Given the description of an element on the screen output the (x, y) to click on. 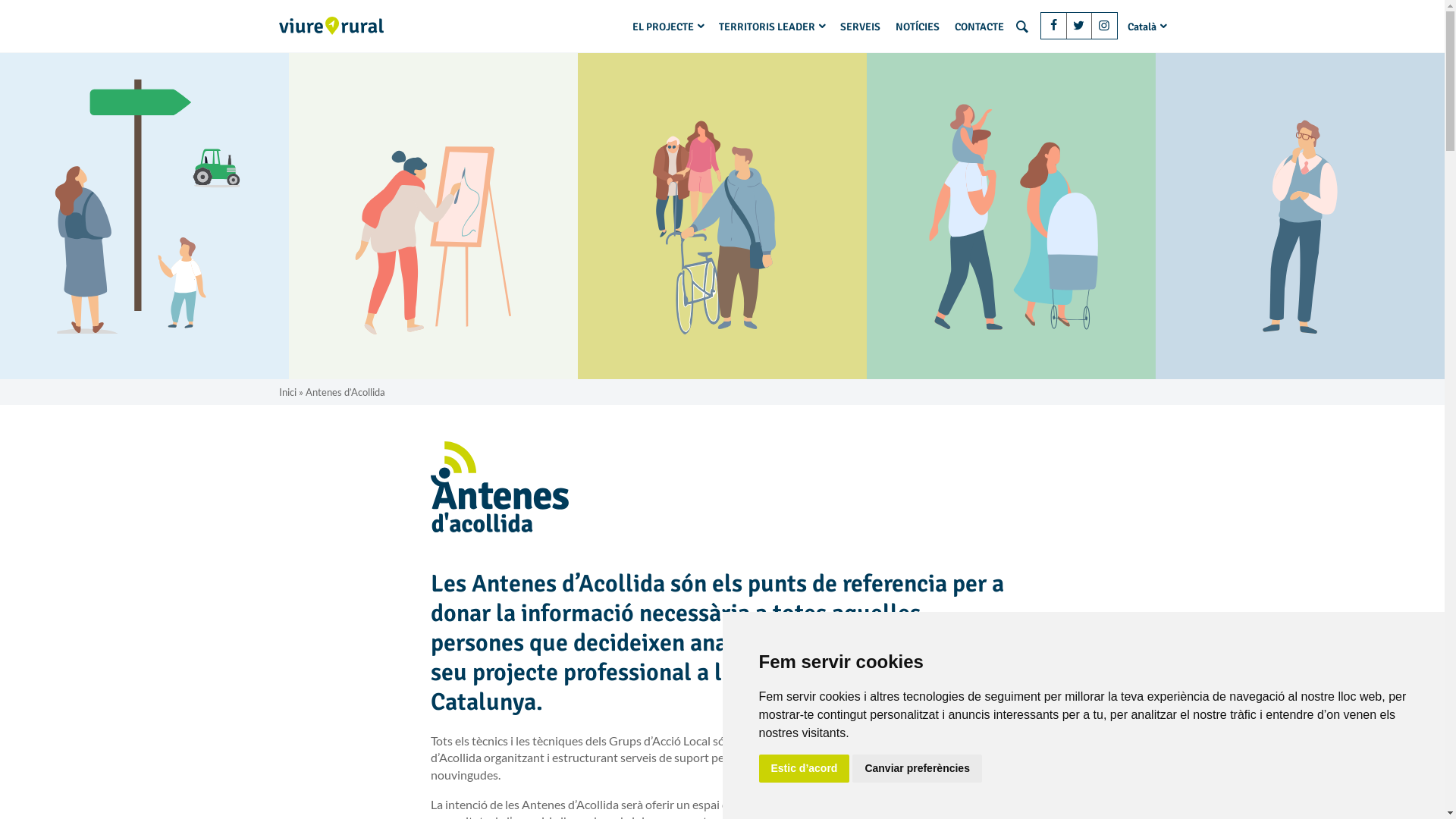
CONTACTE Element type: text (979, 26)
EL PROJECTE Element type: text (667, 26)
SERVEIS Element type: text (860, 26)
Inici Element type: text (287, 391)
TERRITORIS LEADER Element type: text (771, 26)
